Given the description of an element on the screen output the (x, y) to click on. 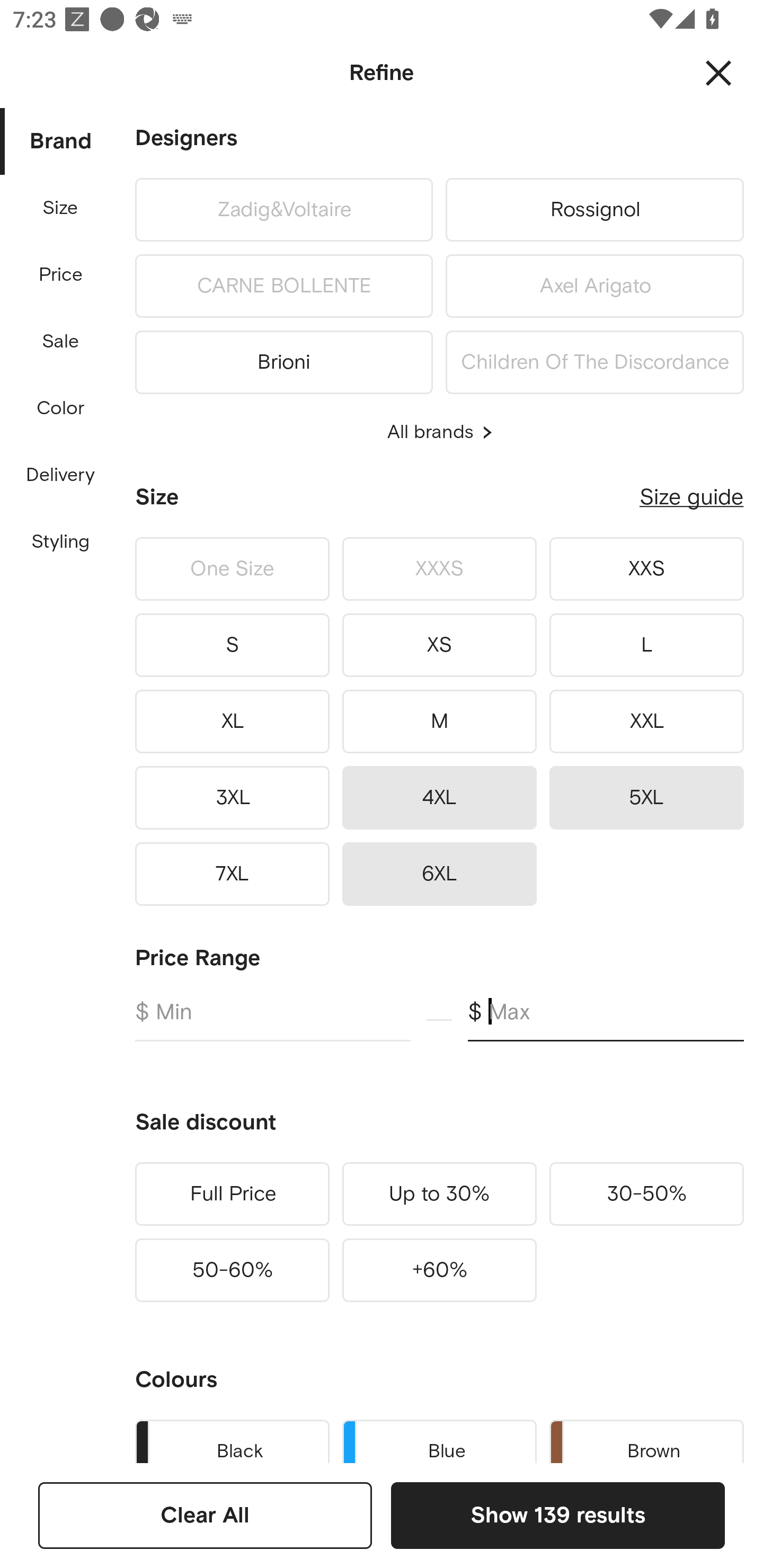
Brand (60, 141)
Size (60, 208)
Zadig&Voltaire (283, 208)
Rossignol (594, 208)
Price (60, 274)
CARNE BOLLENTE (283, 285)
Axel Arigato (594, 285)
Sale (60, 342)
Brioni (283, 358)
Children Of The Discordance (594, 358)
Color (60, 408)
All brands (439, 431)
Delivery (60, 475)
Size guide (691, 496)
Styling (60, 542)
One Size (232, 568)
XXXS (439, 568)
XXS (646, 568)
S (232, 644)
XS (439, 644)
L (646, 644)
XL (232, 720)
M (439, 720)
XXL (646, 720)
3XL (232, 796)
4XL (439, 796)
5XL (646, 796)
7XL (232, 873)
6XL (439, 873)
$ Min (272, 1019)
$ Max (605, 1019)
Full Price (232, 1193)
Up to 30% (439, 1193)
30-50% (646, 1193)
50-60% (232, 1269)
+60% (439, 1269)
Black (232, 1437)
Blue (439, 1437)
Brown (646, 1437)
Clear All (205, 1515)
Show 139 results (557, 1515)
